Given the description of an element on the screen output the (x, y) to click on. 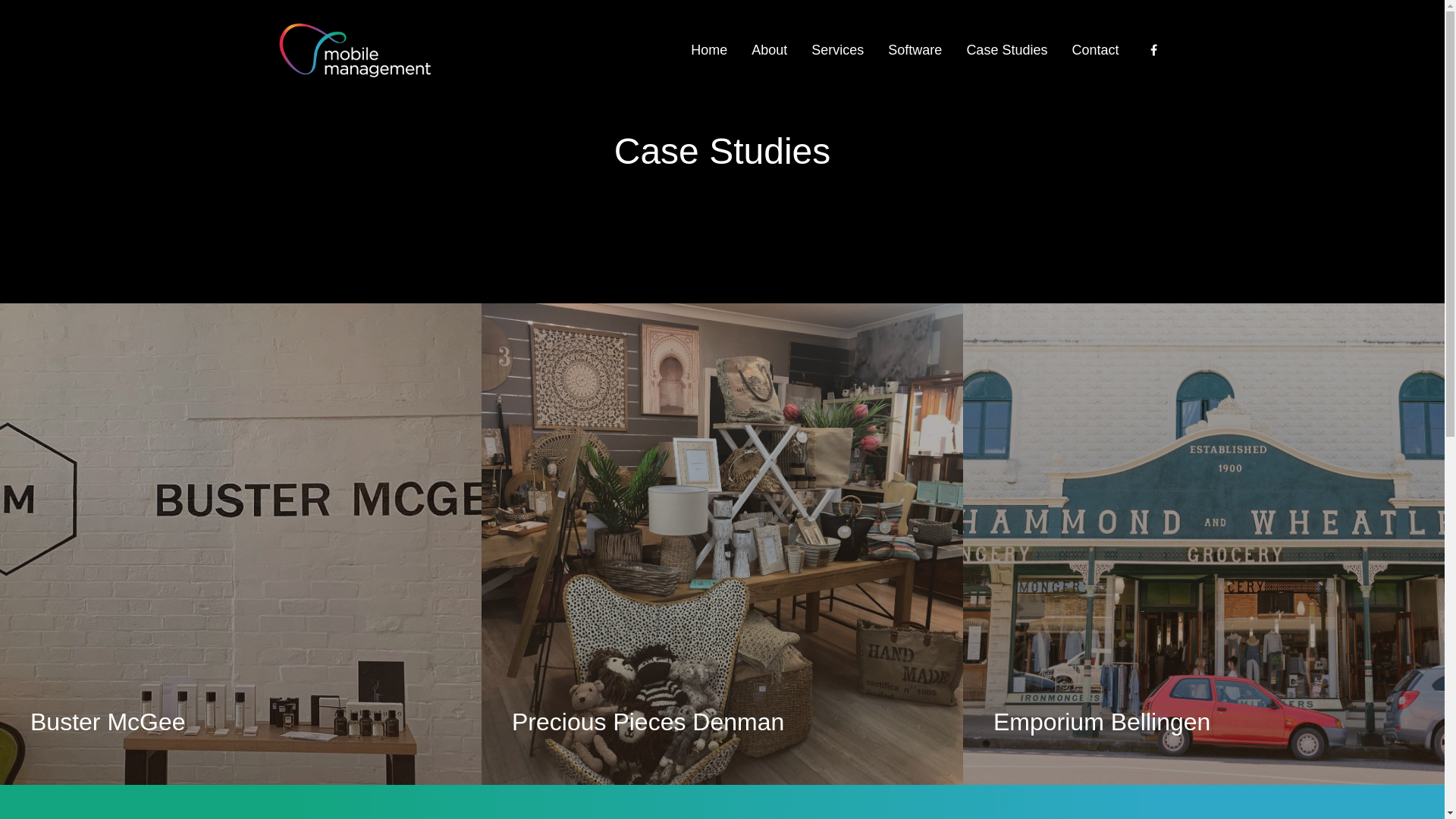
Emporium Bellingen Element type: text (1203, 543)
Home Element type: text (708, 49)
Mobile Management Element type: text (354, 49)
Buster McGee Element type: text (240, 543)
About Element type: text (769, 49)
Case Studies Element type: text (1006, 49)
Software Element type: text (914, 49)
Contact Element type: text (1088, 49)
Precious Pieces Denman Element type: text (722, 543)
Services Element type: text (837, 49)
